Given the description of an element on the screen output the (x, y) to click on. 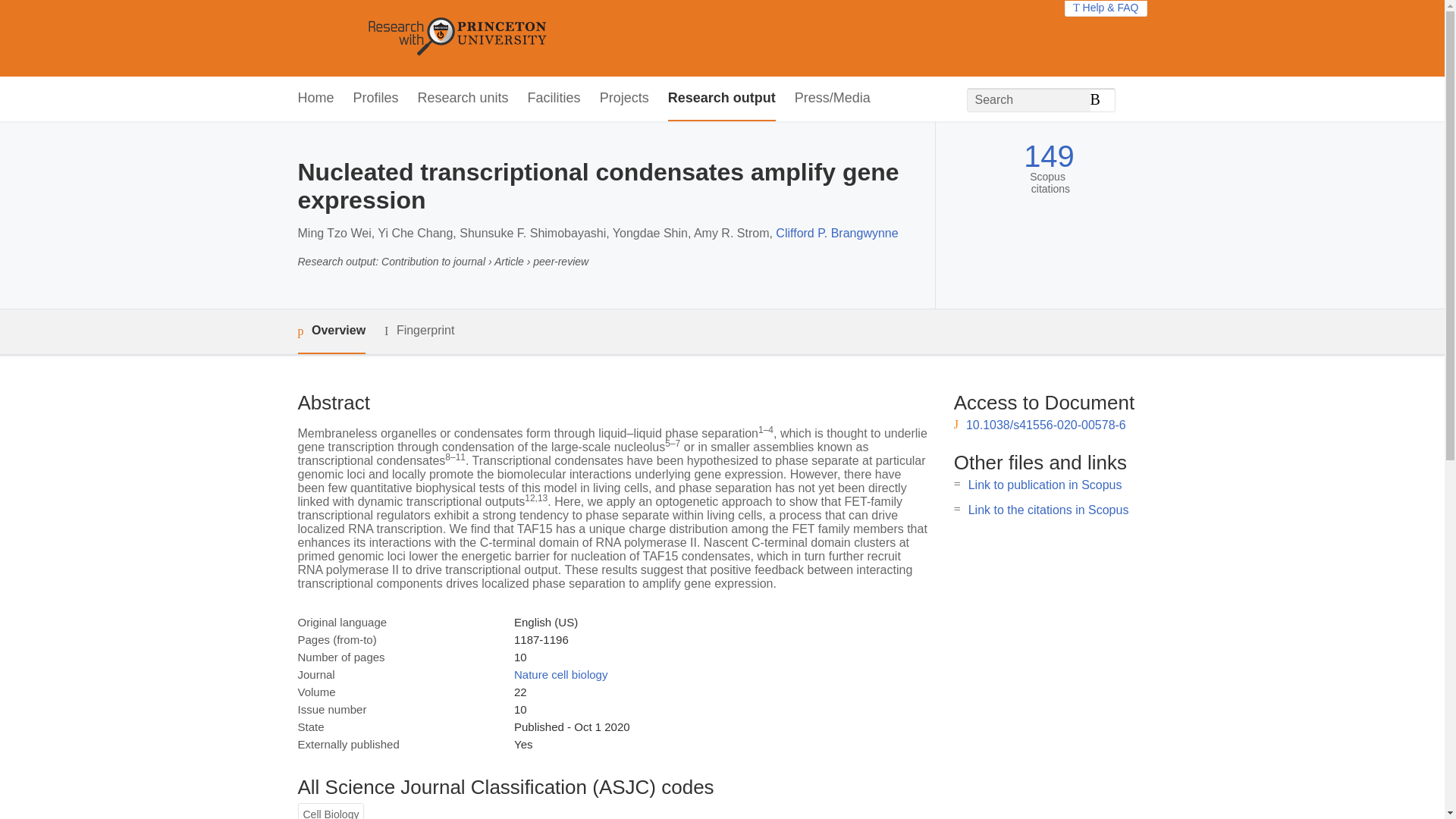
Research units (462, 98)
Fingerprint (419, 330)
Clifford P. Brangwynne (837, 232)
Projects (624, 98)
Profiles (375, 98)
Link to publication in Scopus (1045, 484)
Facilities (553, 98)
Link to the citations in Scopus (1048, 509)
Research output (722, 98)
Nature cell biology (560, 674)
Overview (331, 331)
149 (1048, 156)
Princeton University Home (567, 38)
